Given the description of an element on the screen output the (x, y) to click on. 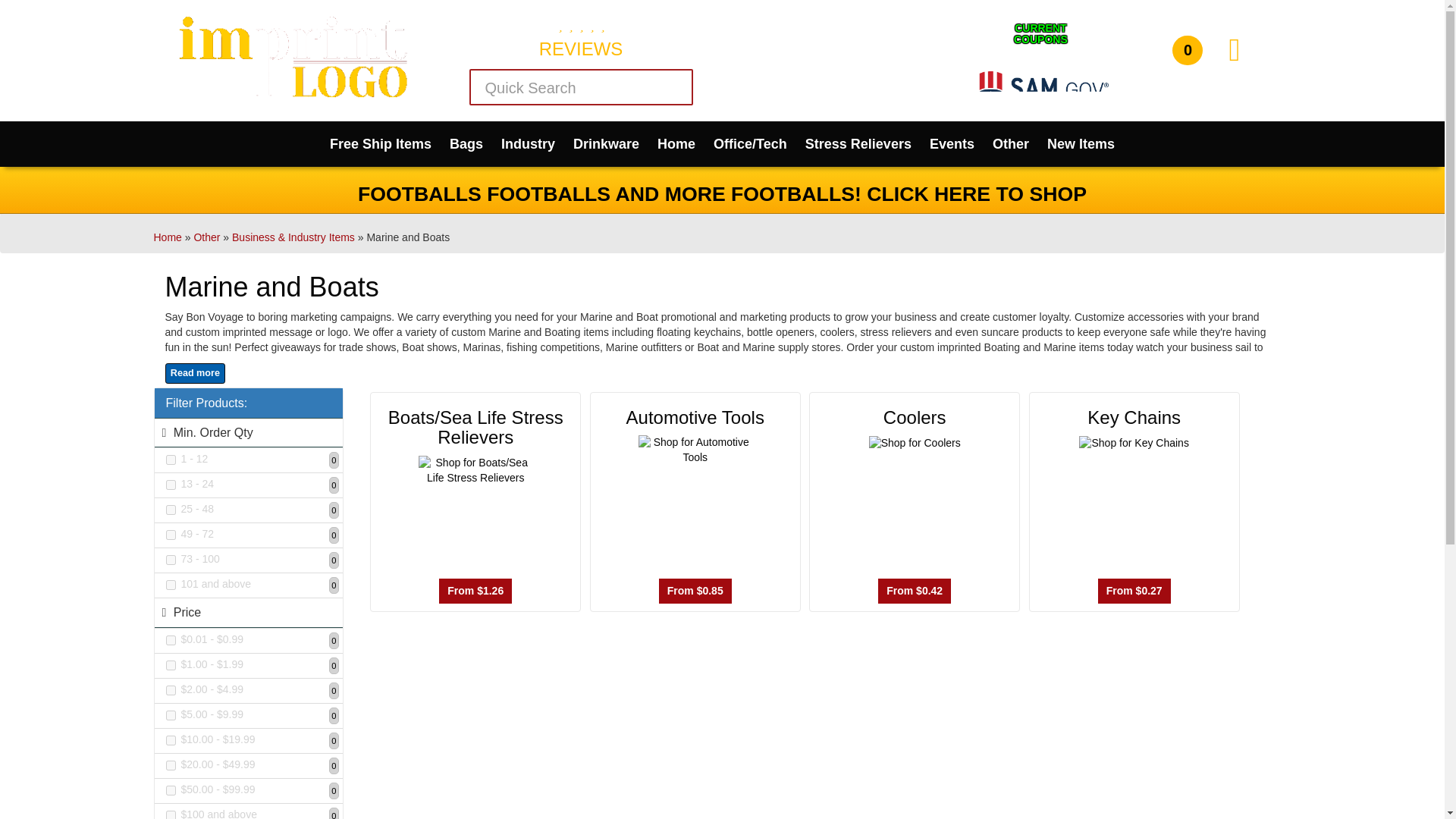
REVIEWS (581, 36)
Promo Products, Swag and Merch (285, 18)
1 - 12 (169, 460)
Chat Now! (833, 99)
49 - 72 (169, 534)
13 - 24 (169, 484)
Industry (528, 144)
101 and above (169, 584)
73 - 100 (169, 560)
